Given the description of an element on the screen output the (x, y) to click on. 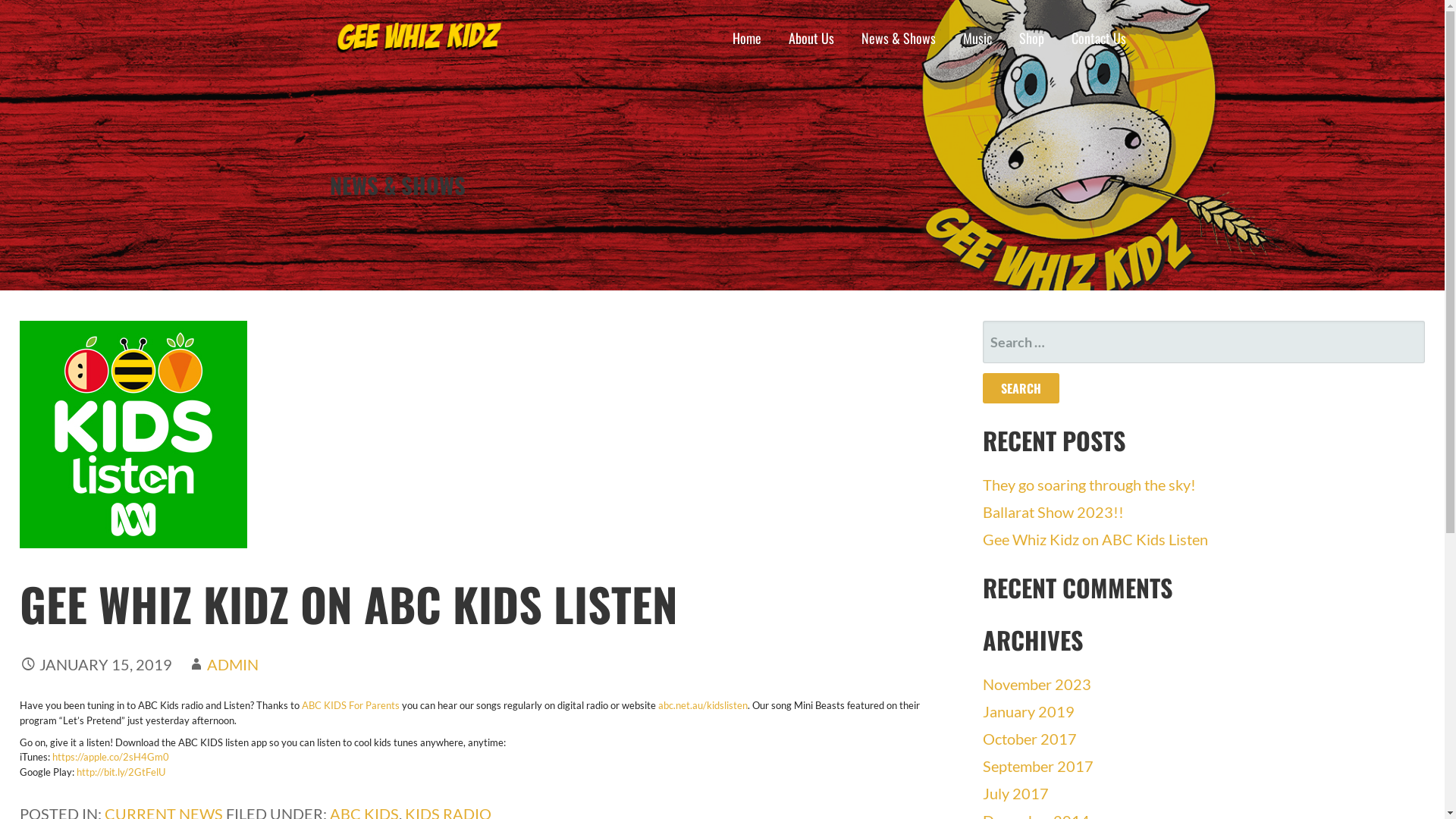
GEE WHIZ KIDZ Element type: text (389, 86)
Shop Element type: text (1031, 37)
September 2017 Element type: text (1037, 765)
Home Element type: text (746, 37)
ADMIN Element type: text (232, 664)
Music Element type: text (977, 37)
July 2017 Element type: text (1015, 793)
ABC KIDS For Parents Element type: text (350, 705)
About Us Element type: text (811, 37)
Gee Whiz Kidz on ABC Kids Listen Element type: text (1095, 539)
January 2019 Element type: text (1028, 711)
They go soaring through the sky! Element type: text (1088, 484)
Search Element type: text (1020, 388)
abc.net.au/kidslisten Element type: text (702, 705)
Contact Us Element type: text (1098, 37)
October 2017 Element type: text (1029, 738)
November 2023 Element type: text (1036, 683)
Ballarat Show 2023!! Element type: text (1052, 511)
http://bit.ly/2GtFelU Element type: text (120, 771)
News & Shows Element type: text (898, 37)
https://apple.co/2sH4Gm0 Element type: text (110, 756)
